Given the description of an element on the screen output the (x, y) to click on. 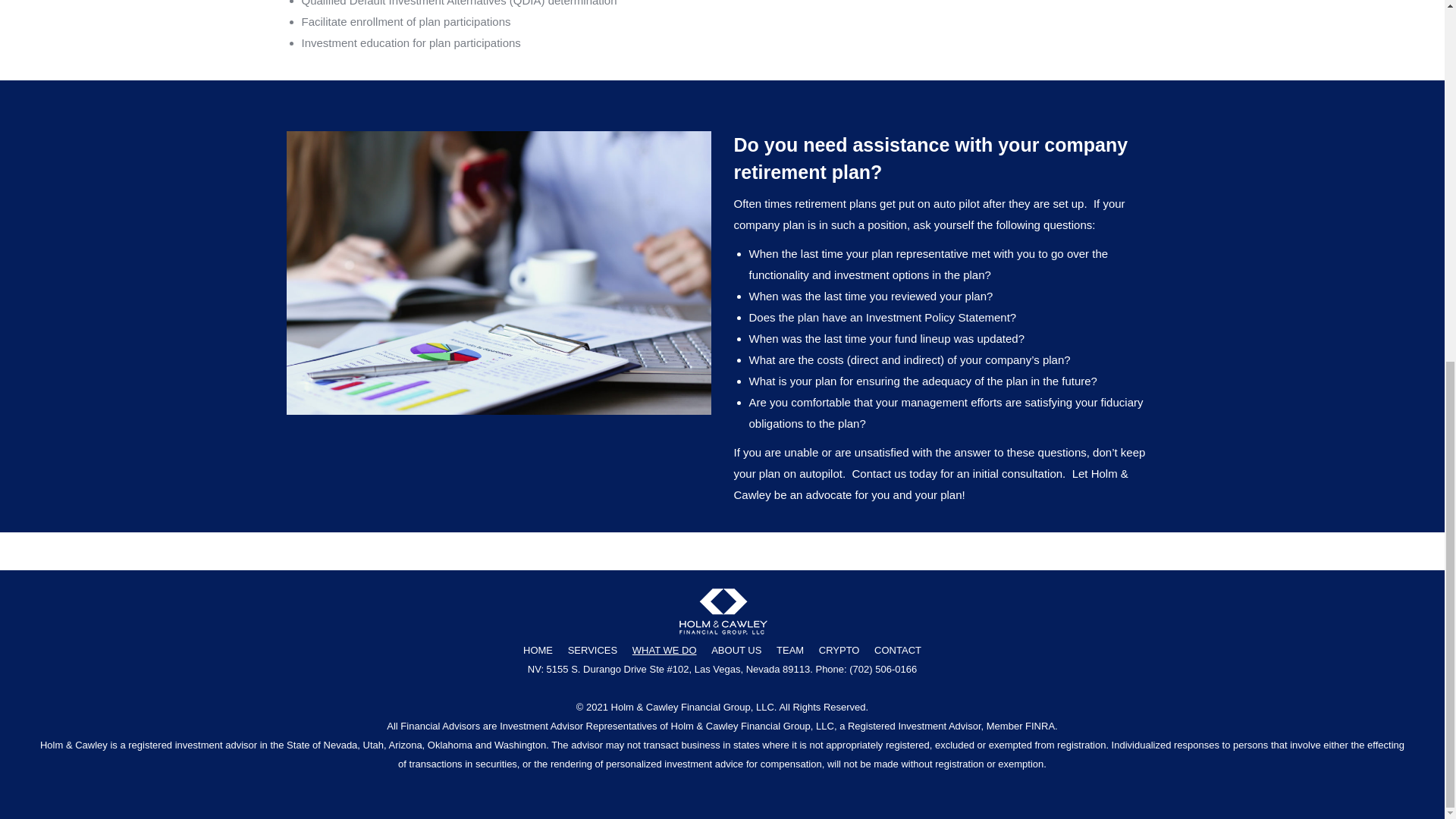
SERVICES (592, 650)
WHAT WE DO (664, 650)
TEAM (789, 650)
ABOUT US (736, 650)
HOME (537, 650)
